Given the description of an element on the screen output the (x, y) to click on. 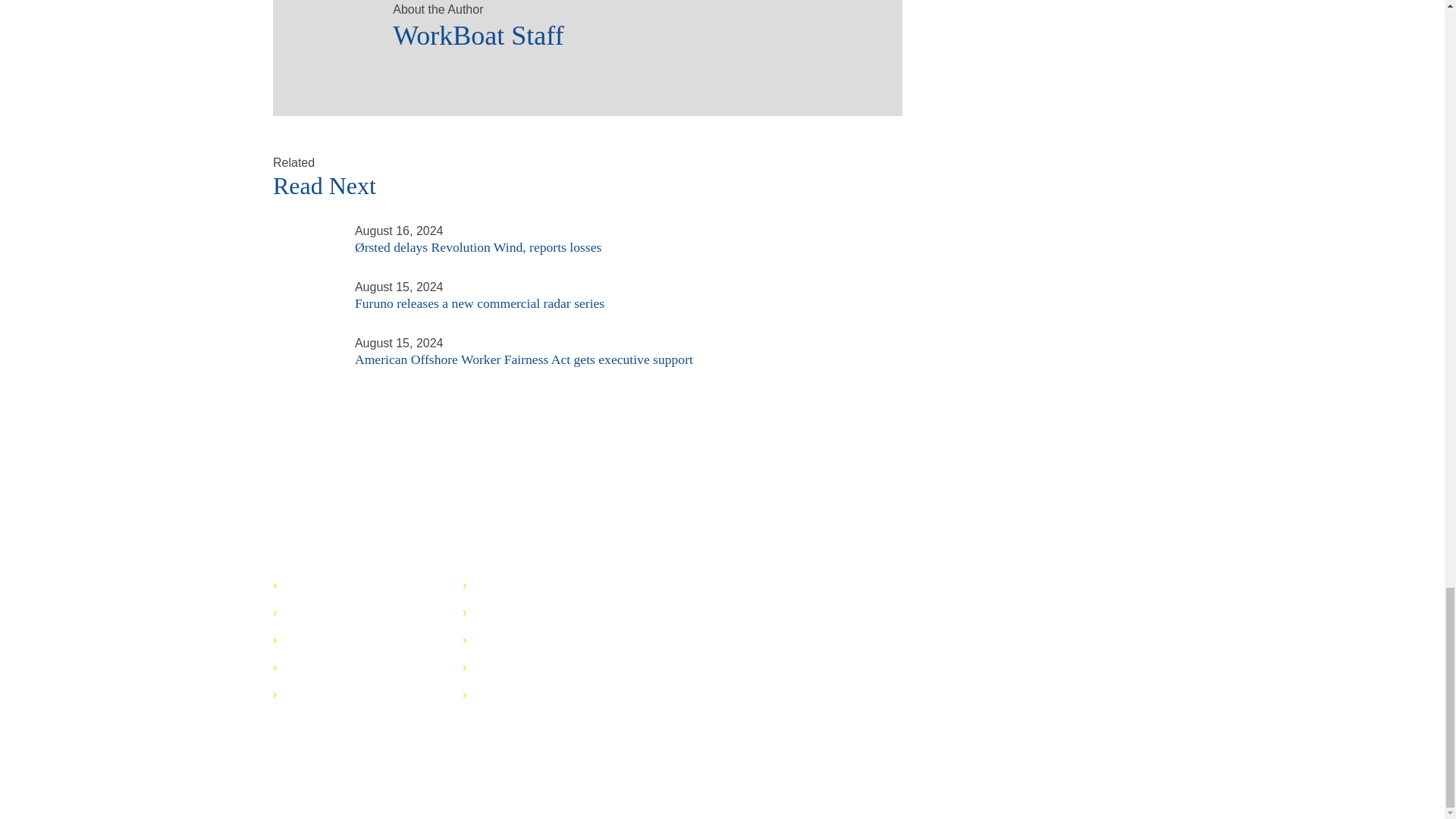
American Offshore Worker Fairness Act gets executive support (304, 356)
WorkBoat Staff (631, 30)
Furuno releases a new commercial radar series (304, 285)
WorkBoat Staff (325, 26)
